Given the description of an element on the screen output the (x, y) to click on. 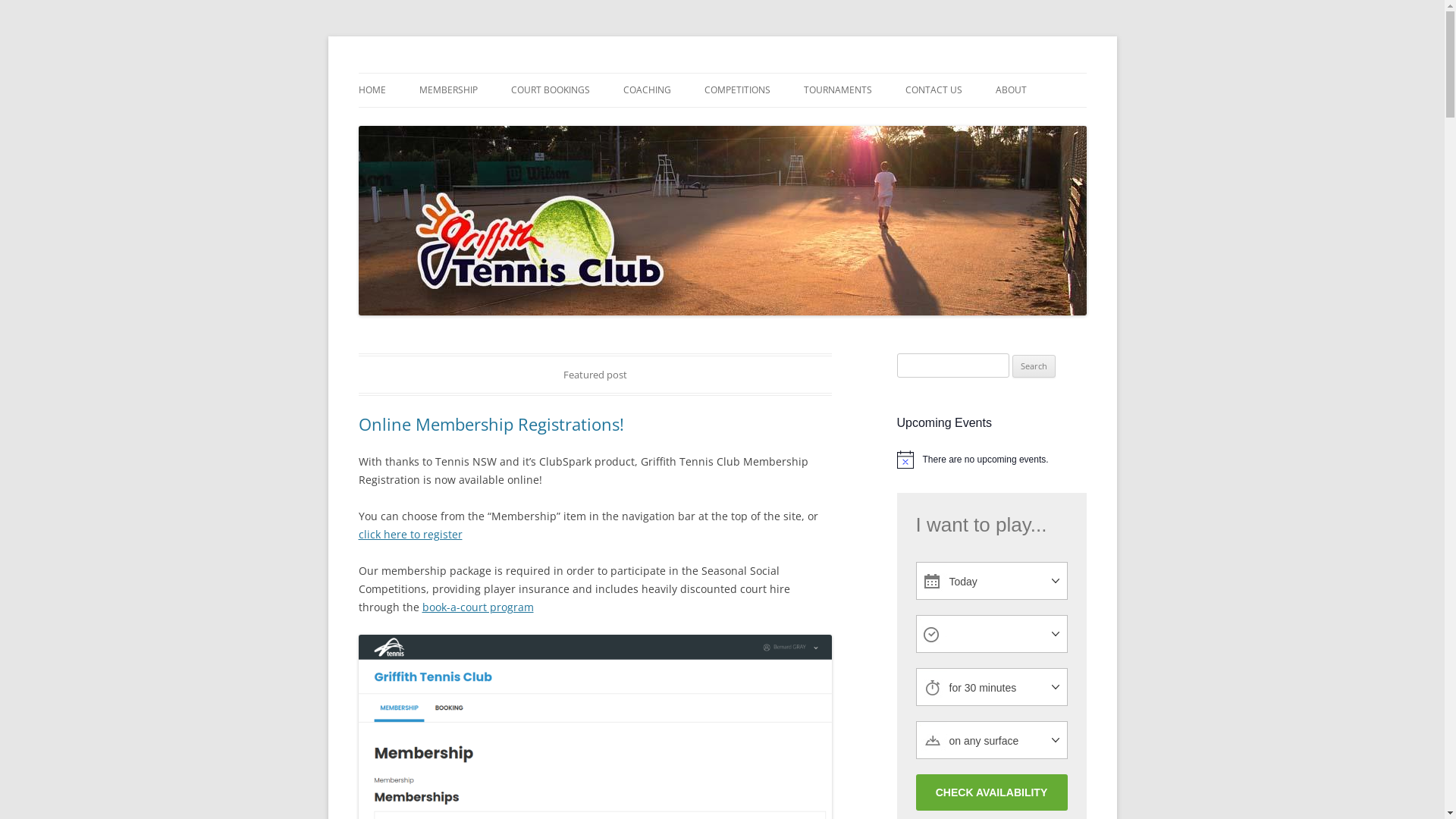
CHECK AVAILABILITY Element type: text (991, 792)
book-a-court program Element type: text (477, 606)
Skip to content Element type: text (721, 72)
Search Element type: text (1033, 365)
MEMBERSHIP Element type: text (447, 89)
ABOUT Element type: text (1010, 89)
click here to register Element type: text (409, 534)
Griffith Tennis Club Element type: text (453, 72)
Online Membership Registrations! Element type: text (490, 423)
CONTACT US Element type: text (933, 89)
TOURNAMENTS Element type: text (837, 89)
COACHING Element type: text (647, 89)
HOME Element type: text (371, 89)
COMPETITIONS Element type: text (736, 89)
COURT BOOKINGS Element type: text (550, 89)
